Given the description of an element on the screen output the (x, y) to click on. 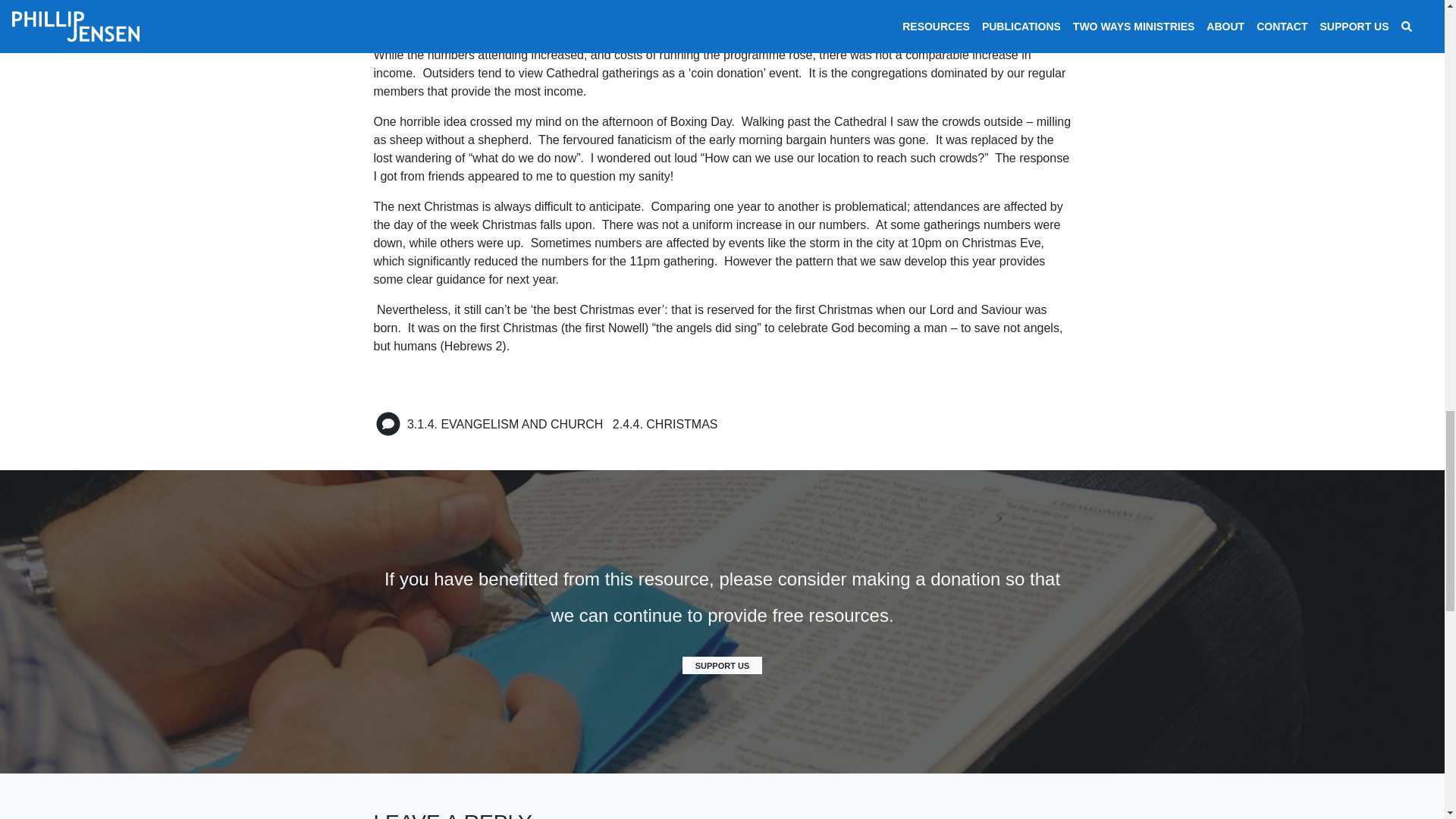
2.4.4. CHRISTMAS (664, 423)
Support us (722, 665)
SUPPORT US (722, 665)
3.1.4. EVANGELISM AND CHURCH (504, 423)
